Given the description of an element on the screen output the (x, y) to click on. 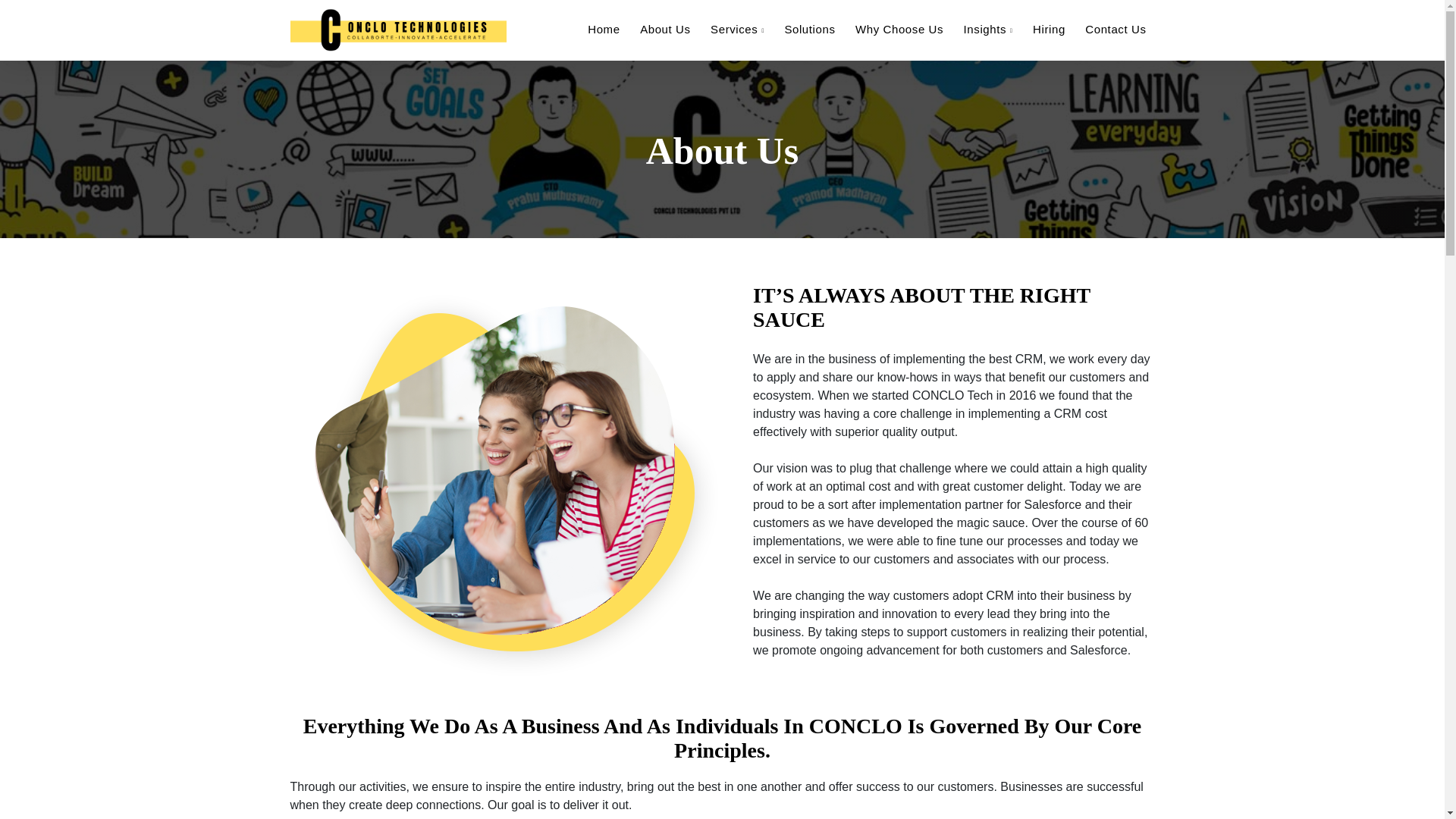
Services (737, 29)
Case Studies (608, 598)
Why Choose Us (616, 574)
Why Choose Us (899, 29)
Blog (584, 624)
Contact Us (1114, 29)
Home (588, 498)
About Us (597, 524)
Services (595, 548)
